Given the description of an element on the screen output the (x, y) to click on. 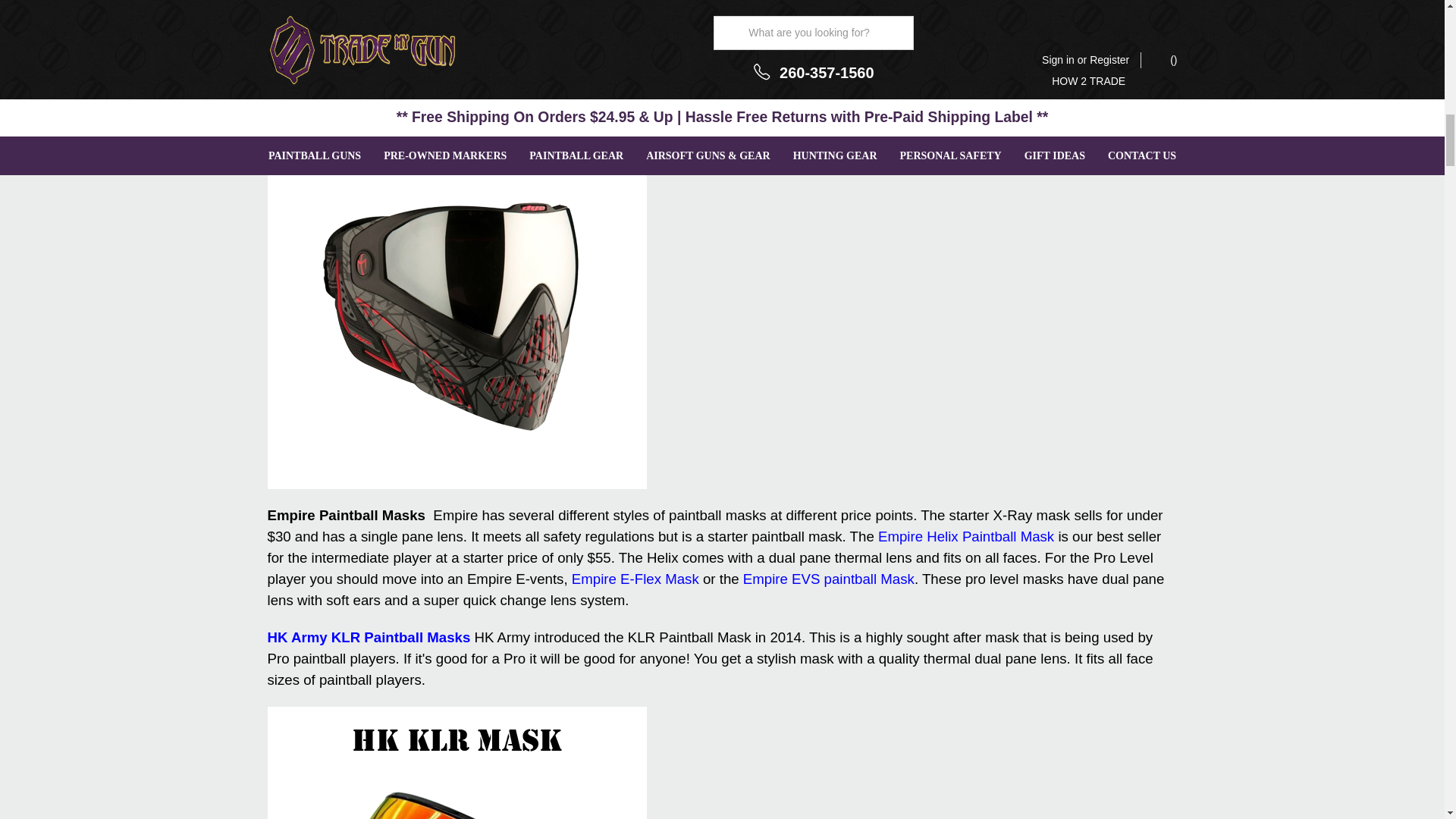
HK Army KLR Paintball Masks (368, 637)
Dye i5 Paintball Masks (334, 83)
Empire EVS paintball Mask (828, 578)
Empire Helix Paintball Masks (965, 536)
Empire E-Flex Masks (635, 578)
